Given the description of an element on the screen output the (x, y) to click on. 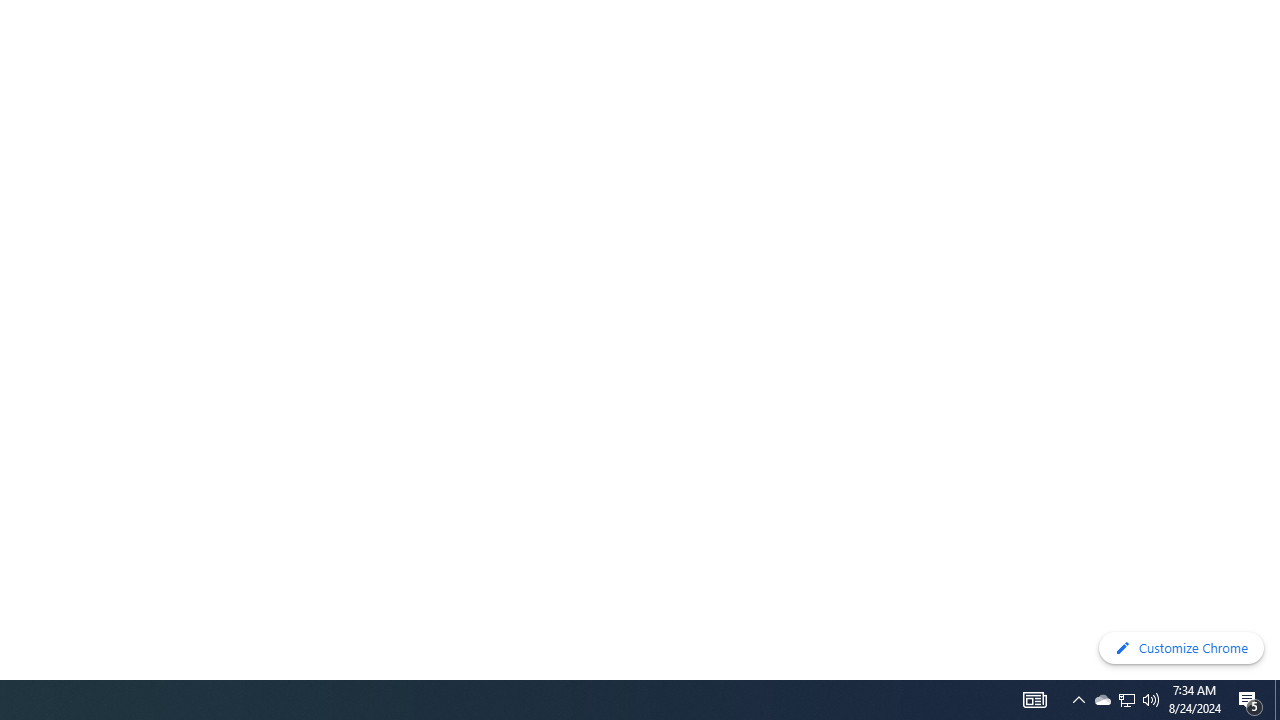
Customize Chrome (1181, 647)
